Given the description of an element on the screen output the (x, y) to click on. 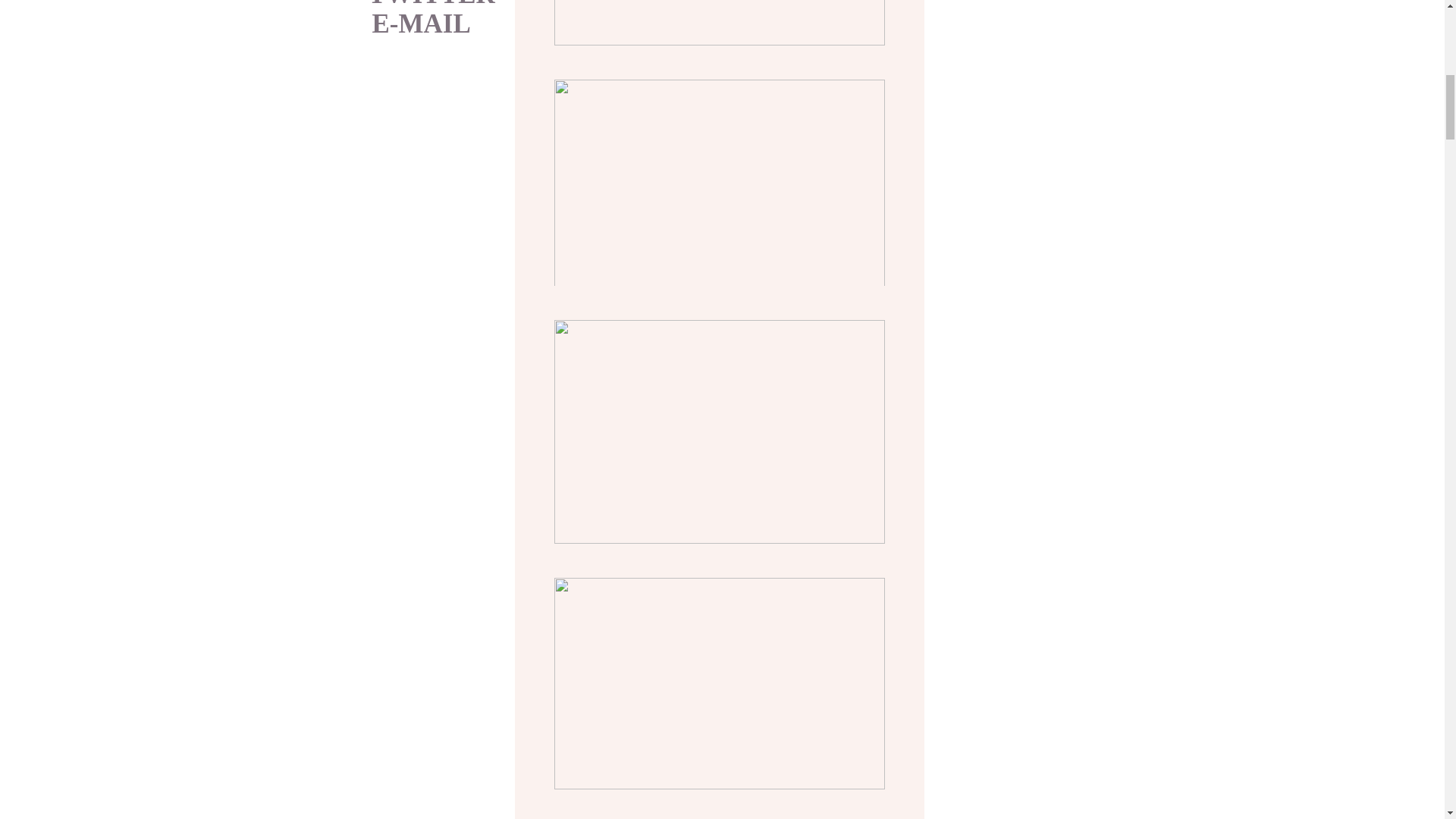
E-MAIL (435, 24)
TWITTER (431, 7)
